Given the description of an element on the screen output the (x, y) to click on. 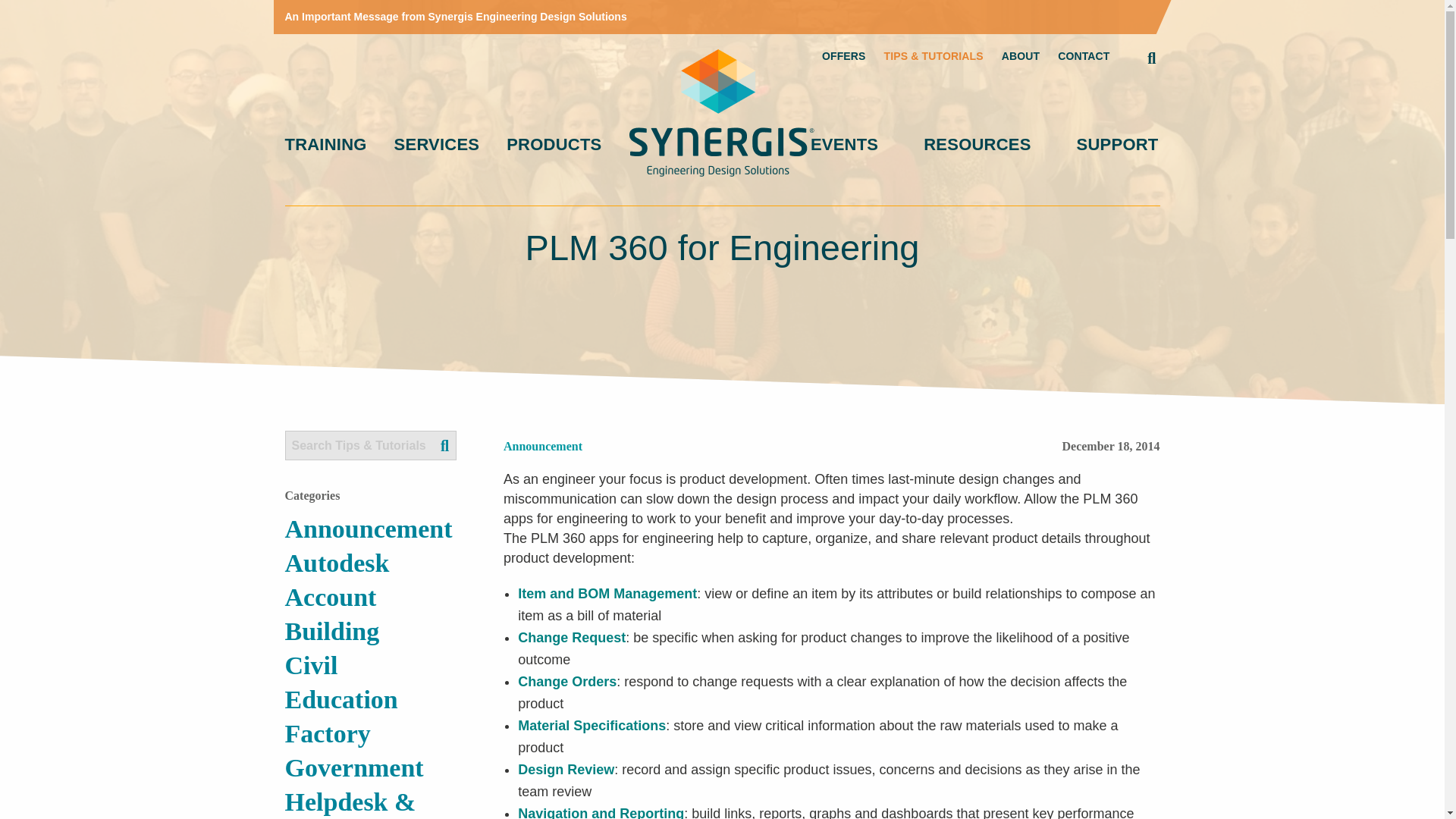
TRAINING (325, 144)
CONTACT (1083, 56)
PRODUCTS (553, 144)
EVENTS (843, 144)
SERVICES (437, 144)
ABOUT (1020, 56)
OFFERS (844, 56)
